Given the description of an element on the screen output the (x, y) to click on. 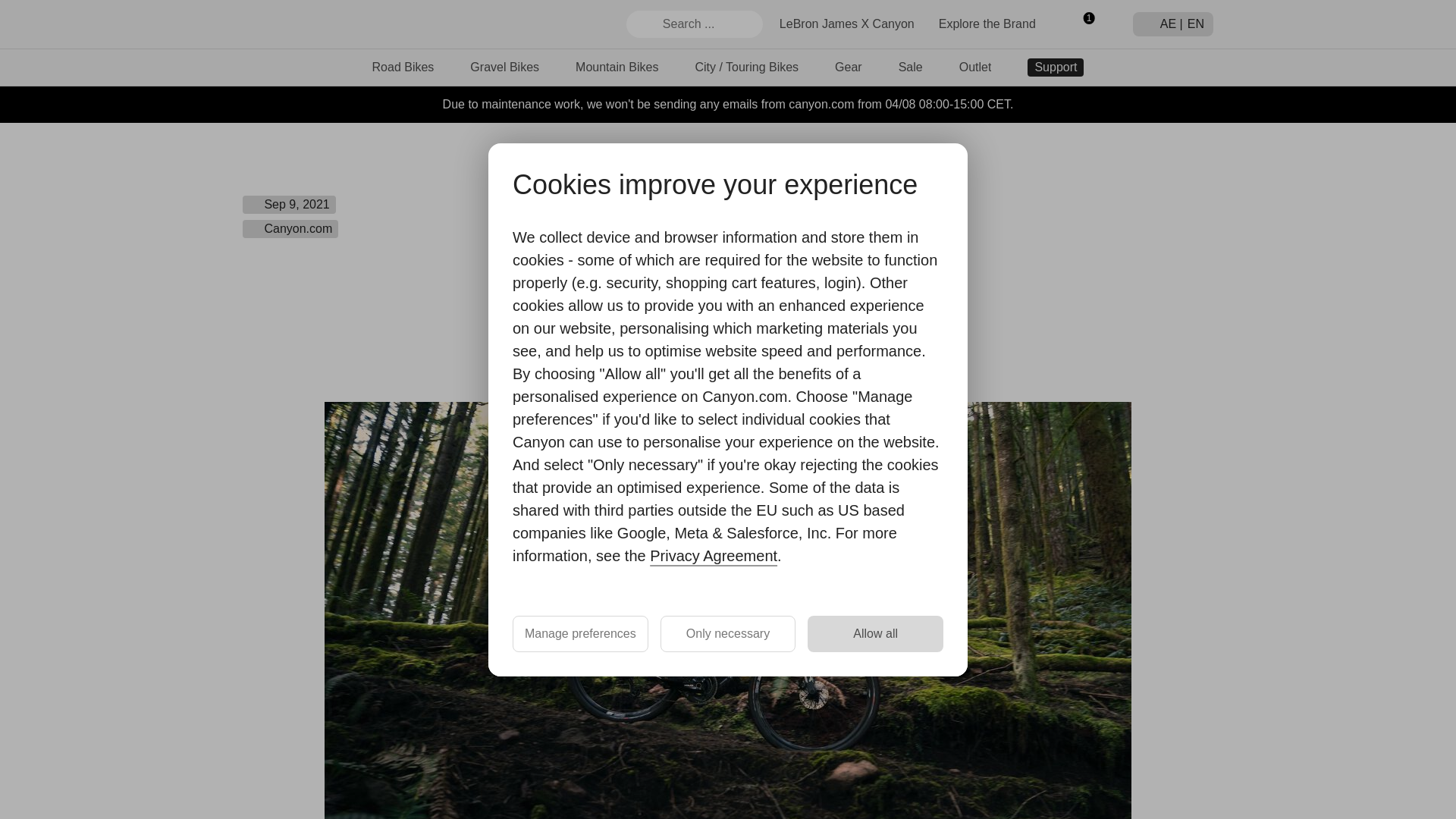
Search ... (694, 23)
Road Bikes (402, 67)
Explore the Brand (987, 23)
LeBron James X Canyon (846, 23)
1 (1082, 24)
Canyon (297, 23)
